Given the description of an element on the screen output the (x, y) to click on. 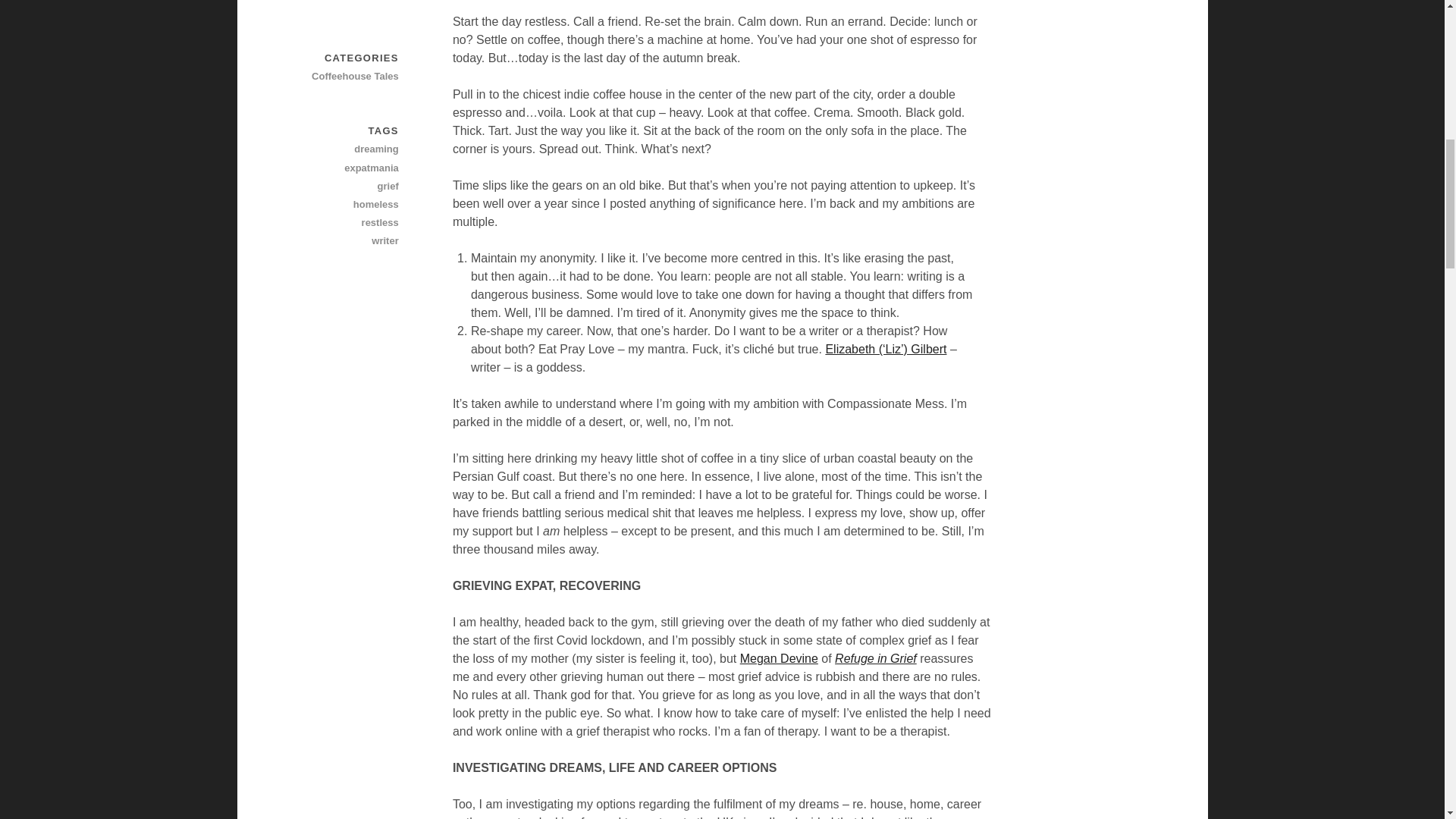
expatmania (344, 167)
Megan Devine (778, 658)
View all posts tagged homeless (344, 204)
View all posts tagged expatmania (344, 167)
View all posts tagged grief (344, 186)
Refuge in Grief (875, 658)
dreaming (344, 149)
View all posts tagged dreaming (344, 149)
View all posts tagged restless (344, 222)
restless (344, 222)
